Given the description of an element on the screen output the (x, y) to click on. 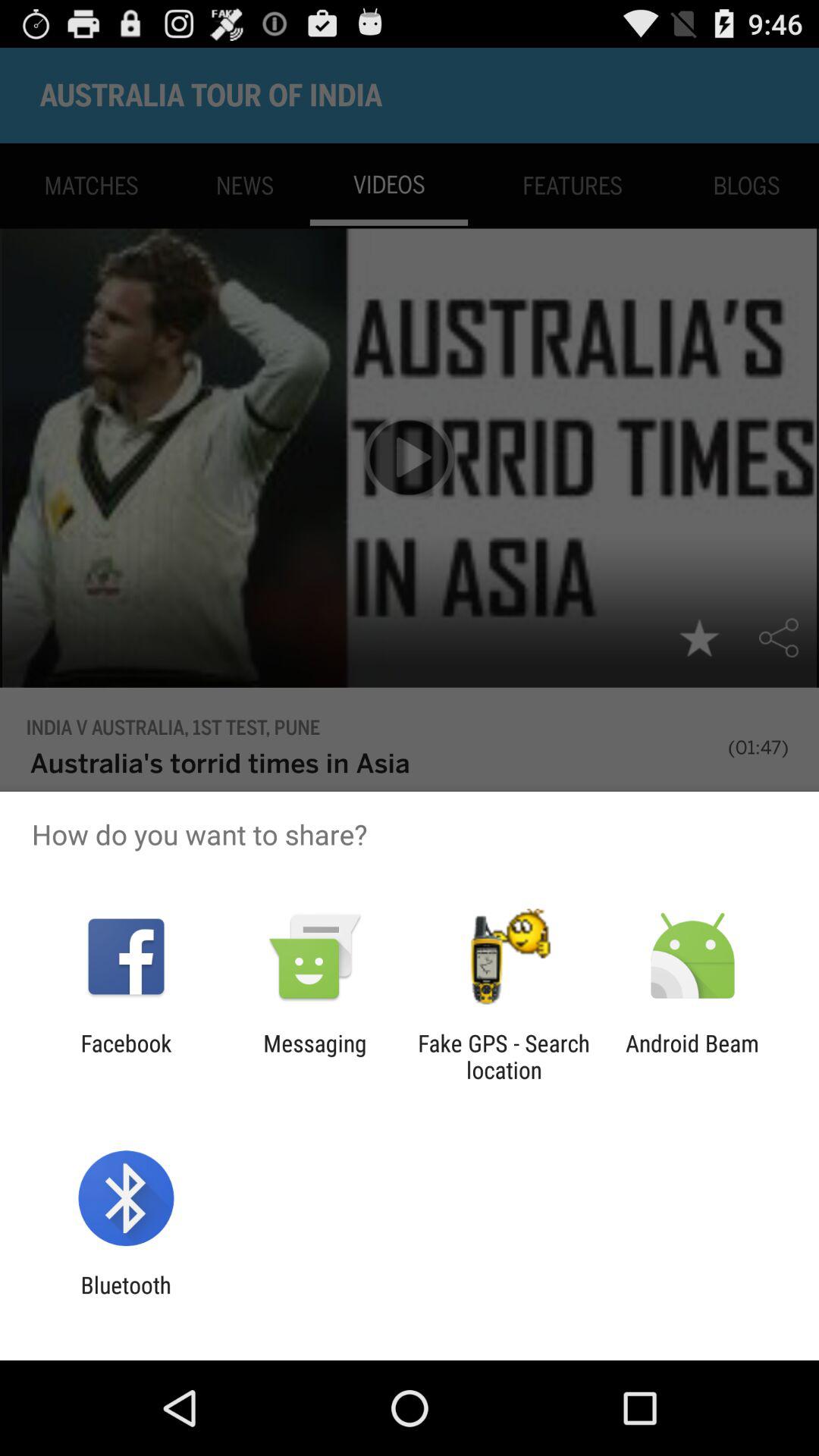
turn off the item next to fake gps search item (314, 1056)
